Given the description of an element on the screen output the (x, y) to click on. 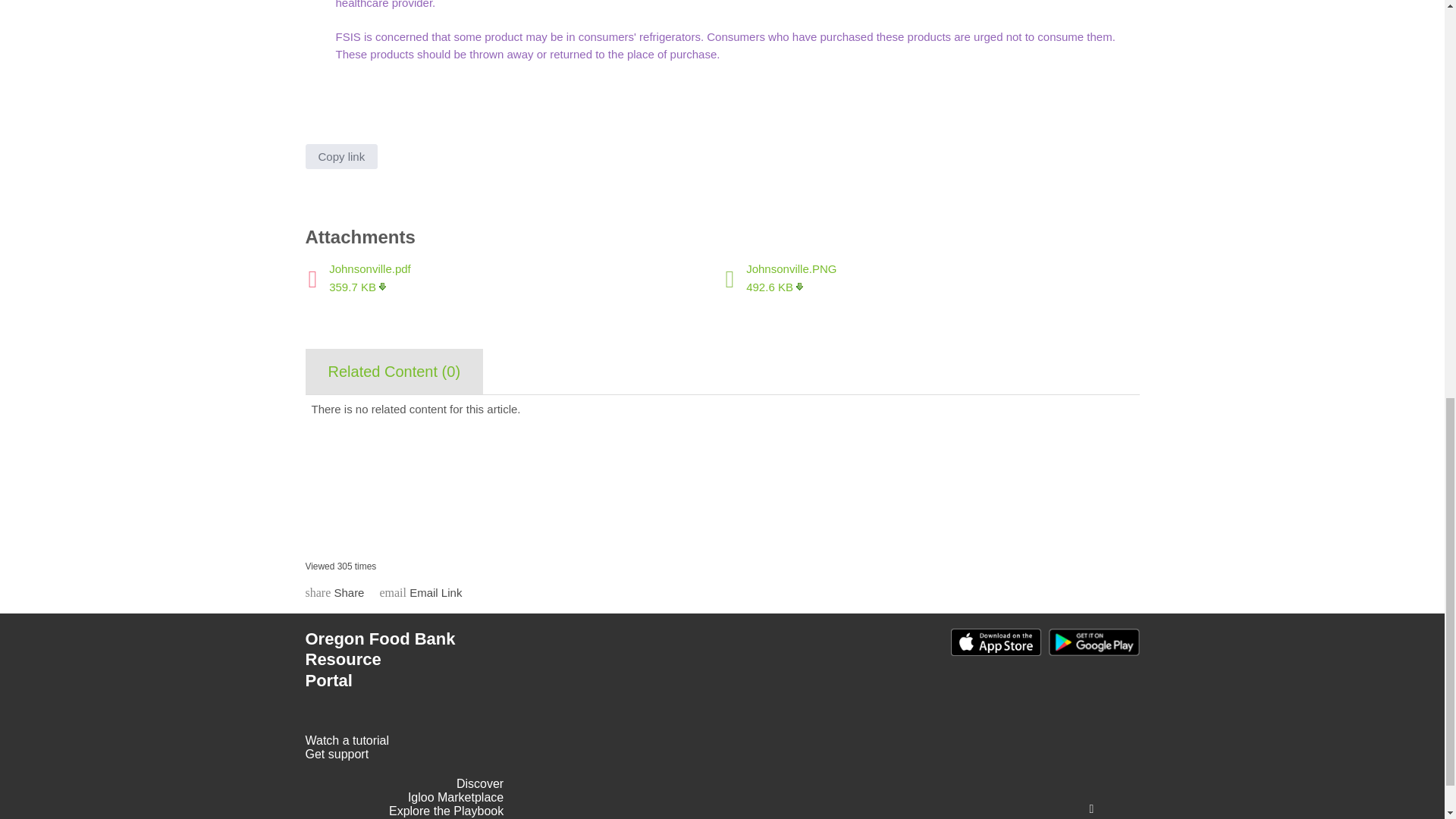
492.6 KB (774, 286)
Johnsonville.pdf (369, 268)
359.7 KB (357, 286)
Copy link (340, 156)
share Share (334, 592)
email Email Link (419, 592)
Johnsonville.PNG (790, 268)
